Given the description of an element on the screen output the (x, y) to click on. 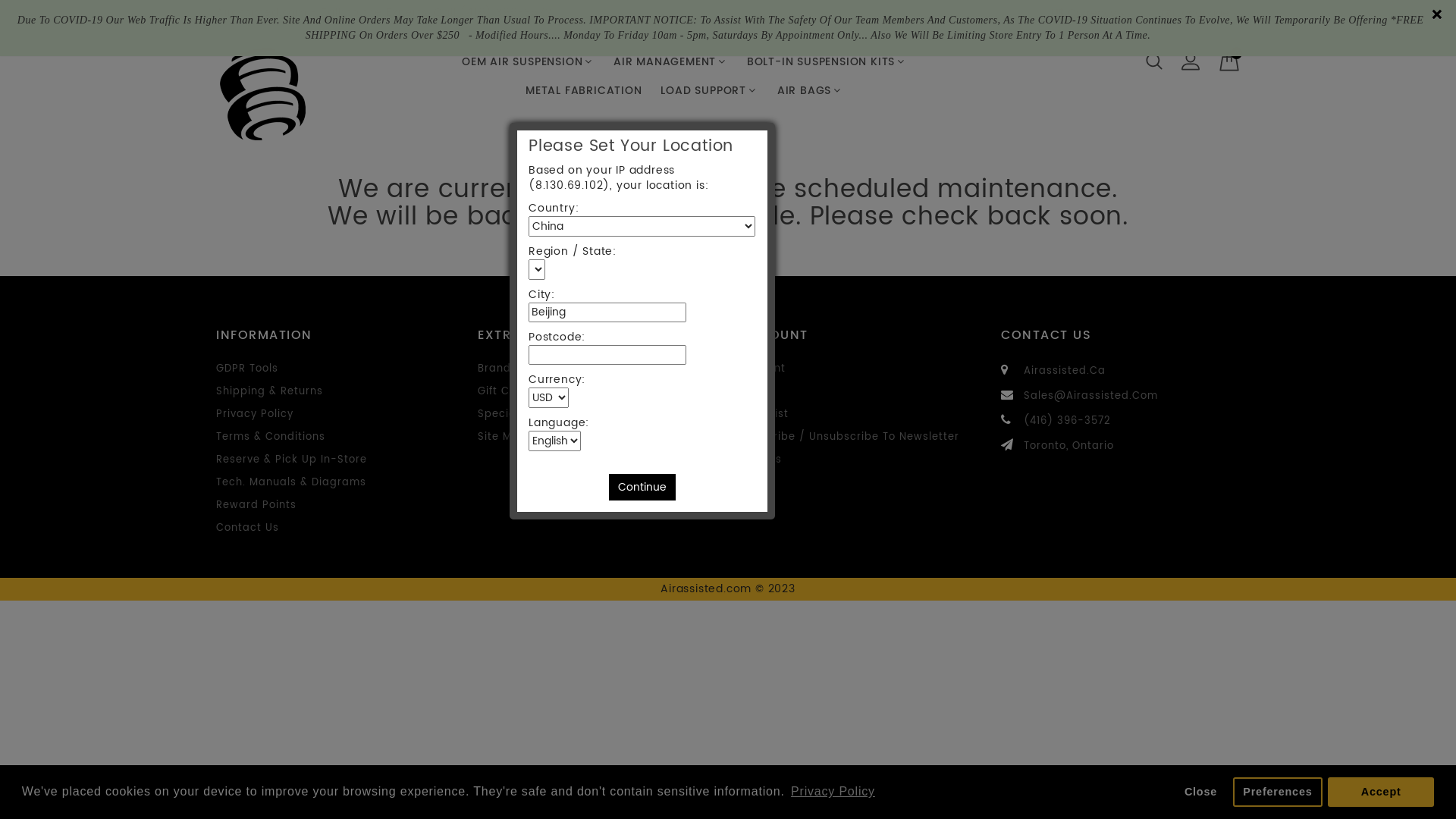
Accept Element type: text (1380, 791)
Reward Points Element type: text (256, 505)
Subscribe / Unsubscribe To Newsletter Element type: text (849, 437)
Site Map Element type: text (502, 437)
AIR MANAGEMENT Element type: text (670, 61)
BOLT-IN SUSPENSION KITS Element type: text (826, 61)
Airassisted.com Element type: hover (263, 94)
Specials Element type: text (501, 414)
AIR BAGS Element type: text (809, 90)
Returns Element type: text (760, 459)
Privacy Policy Element type: text (832, 791)
Preferences Element type: text (1277, 791)
Brands Element type: text (497, 368)
Contact Us Element type: text (247, 528)
U$ Currency  Element type: text (1088, 13)
Gift Certificates Element type: text (522, 391)
Sales@Airassisted.Com Element type: text (1090, 396)
Order Element type: text (755, 391)
My Account Element type: hover (1190, 60)
OEM AIR SUSPENSION Element type: text (528, 61)
Close Element type: text (1199, 791)
Scroll to Top Element type: hover (1426, 789)
Language  Element type: text (1184, 13)
English Element type: hover (1167, 13)
GDPR Tools Element type: text (247, 368)
Wish List Element type: text (763, 414)
Terms & Conditions Element type: text (270, 437)
Shipping & Returns Element type: text (269, 391)
Airassisted.Ca Element type: text (1064, 371)
Continue Element type: text (641, 486)
Tech. Manuals & Diagrams Element type: text (291, 482)
Reserve & Pick Up In-Store Element type: text (291, 459)
Privacy Policy Element type: text (254, 414)
0 Element type: text (1228, 61)
Account Element type: text (762, 368)
METAL FABRICATION Element type: text (583, 90)
LOAD SUPPORT Element type: text (708, 90)
